Given the description of an element on the screen output the (x, y) to click on. 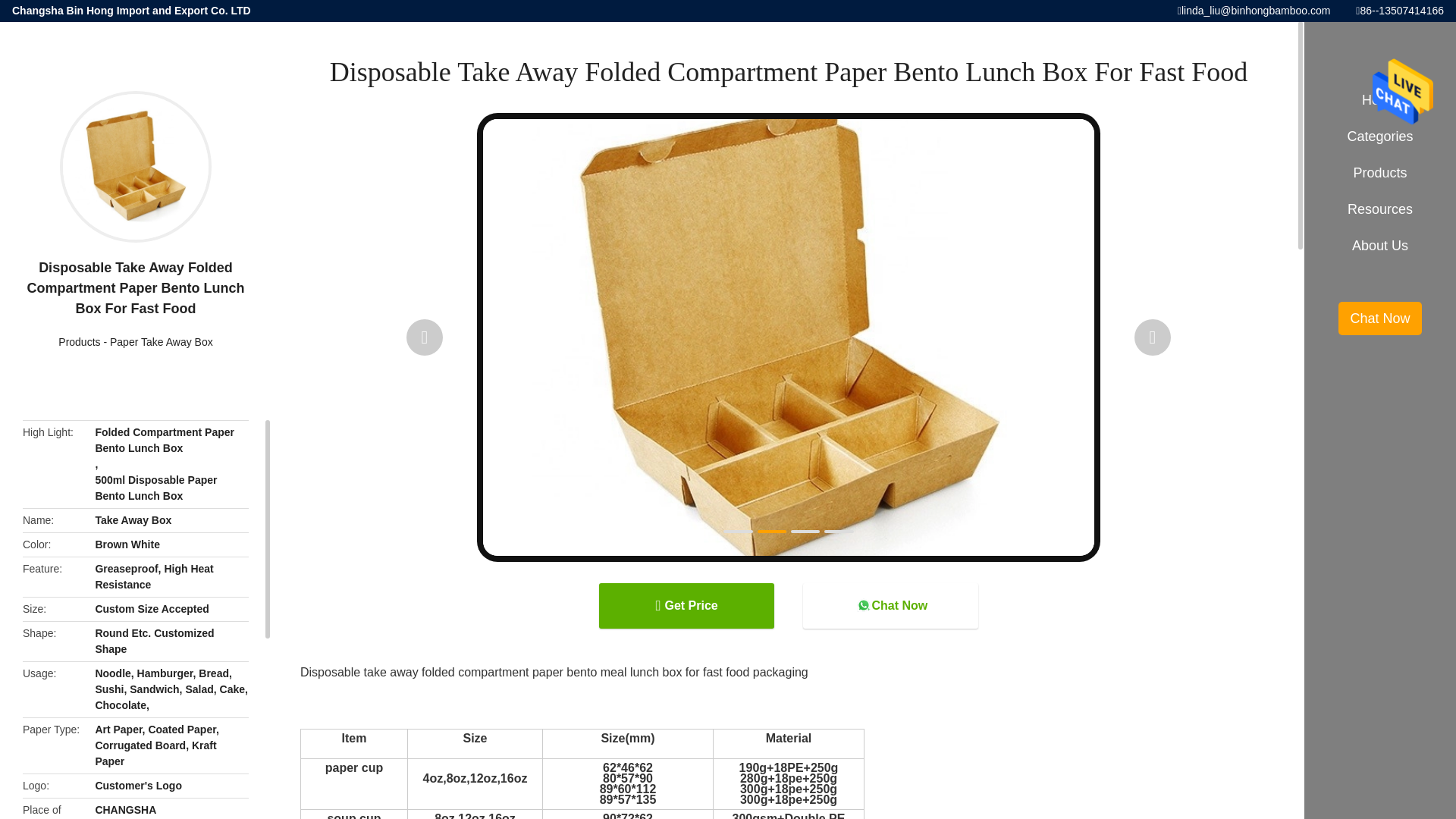
Chat Now (889, 605)
Categories (1379, 135)
Paper Take Away Box (161, 341)
China Paper Take Away Box Manufacturers (161, 341)
Home (1379, 99)
Products (79, 341)
Products (79, 341)
Get Price (685, 605)
